Given the description of an element on the screen output the (x, y) to click on. 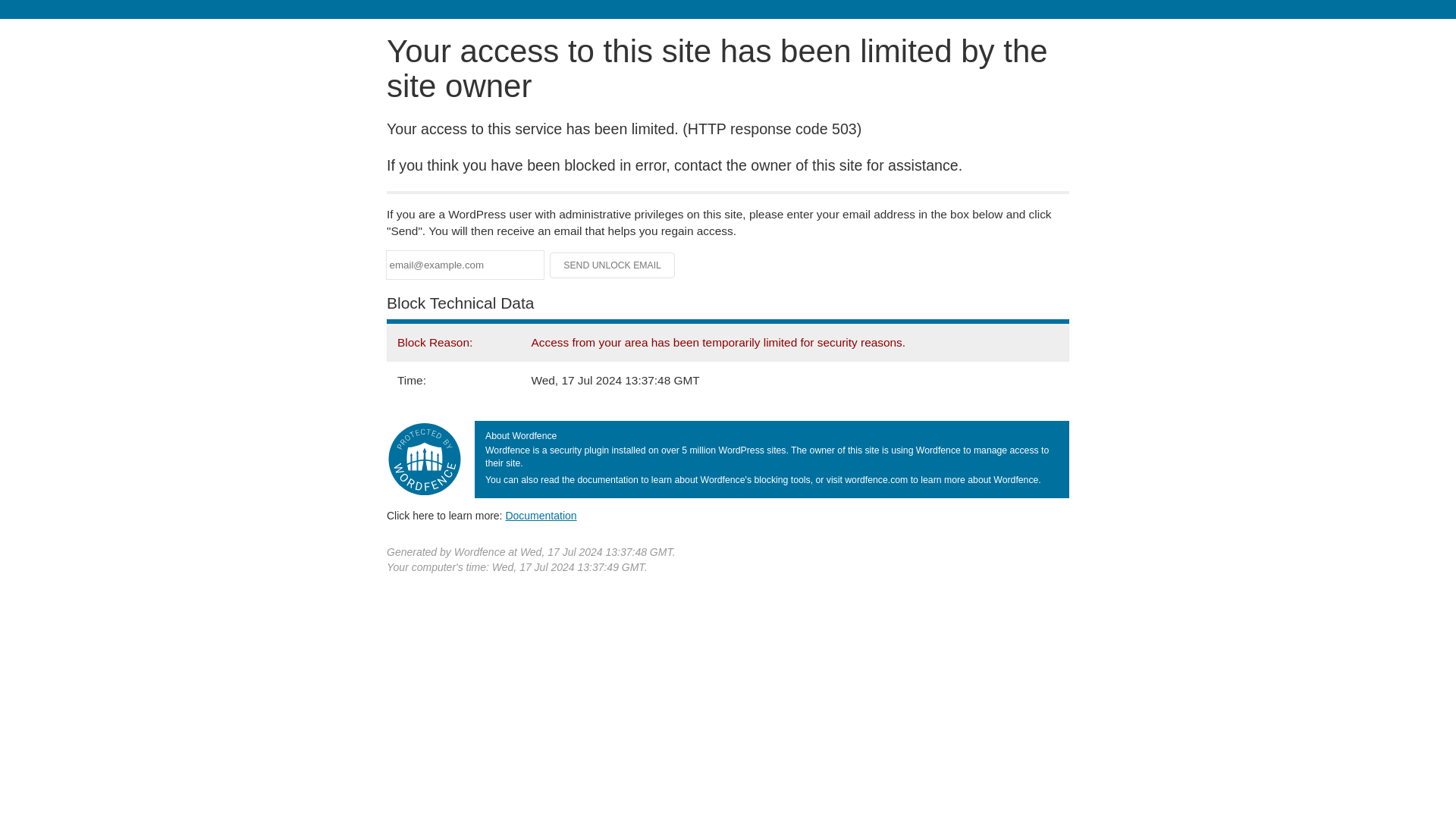
Send Unlock Email (612, 265)
Documentation (540, 515)
Send Unlock Email (612, 265)
